Given the description of an element on the screen output the (x, y) to click on. 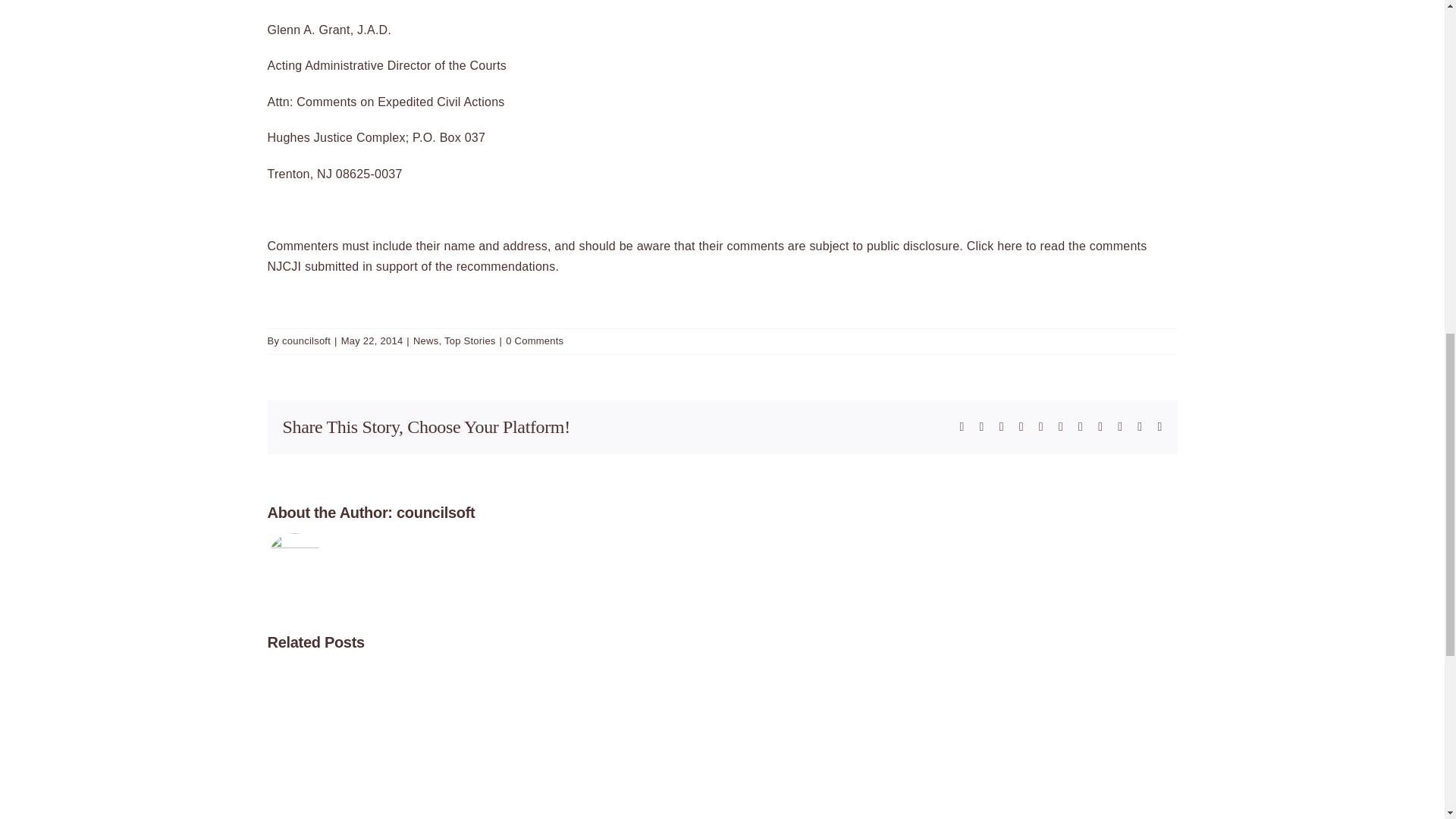
News (425, 340)
Top Stories (470, 340)
Posts by councilsoft (306, 340)
councilsoft (306, 340)
0 Comments (534, 340)
